Given the description of an element on the screen output the (x, y) to click on. 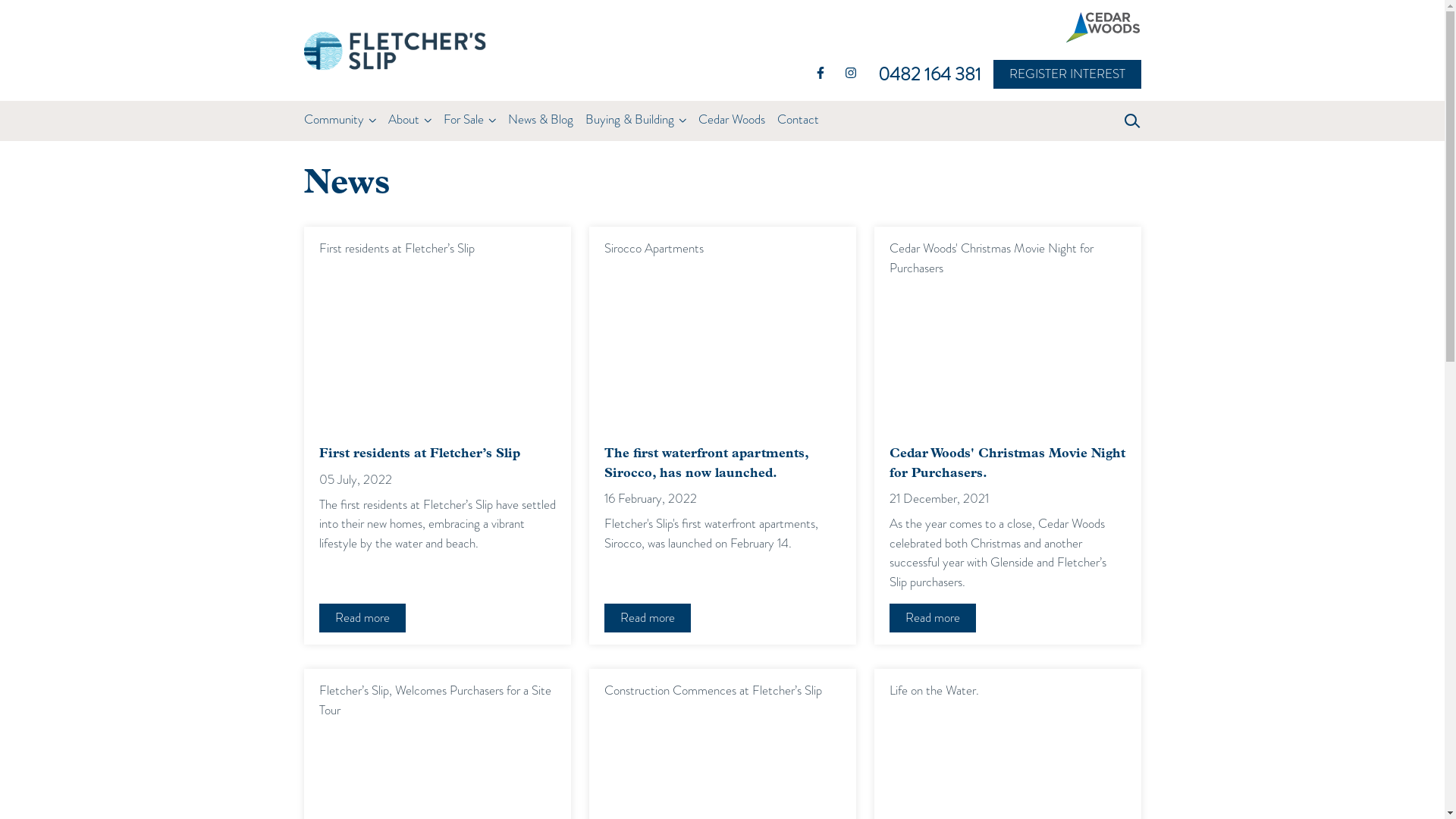
Community Element type: text (339, 120)
0482 164 381 Element type: text (833, 666)
News & Blog Element type: text (545, 120)
Buying & Building Element type: text (634, 120)
For Sale Element type: text (468, 120)
Email us Element type: text (817, 698)
Disclaimer Element type: text (697, 778)
Corner Semaphore Road and Jenkins Street, New Port, SA 5015 Element type: text (463, 666)
About Element type: text (408, 120)
0482 164 381 Element type: text (934, 73)
REGISTER INTEREST Element type: text (1072, 73)
Privacy Policy Element type: text (782, 778)
Cedar Woods Element type: text (730, 120)
Contact Element type: text (797, 120)
